Given the description of an element on the screen output the (x, y) to click on. 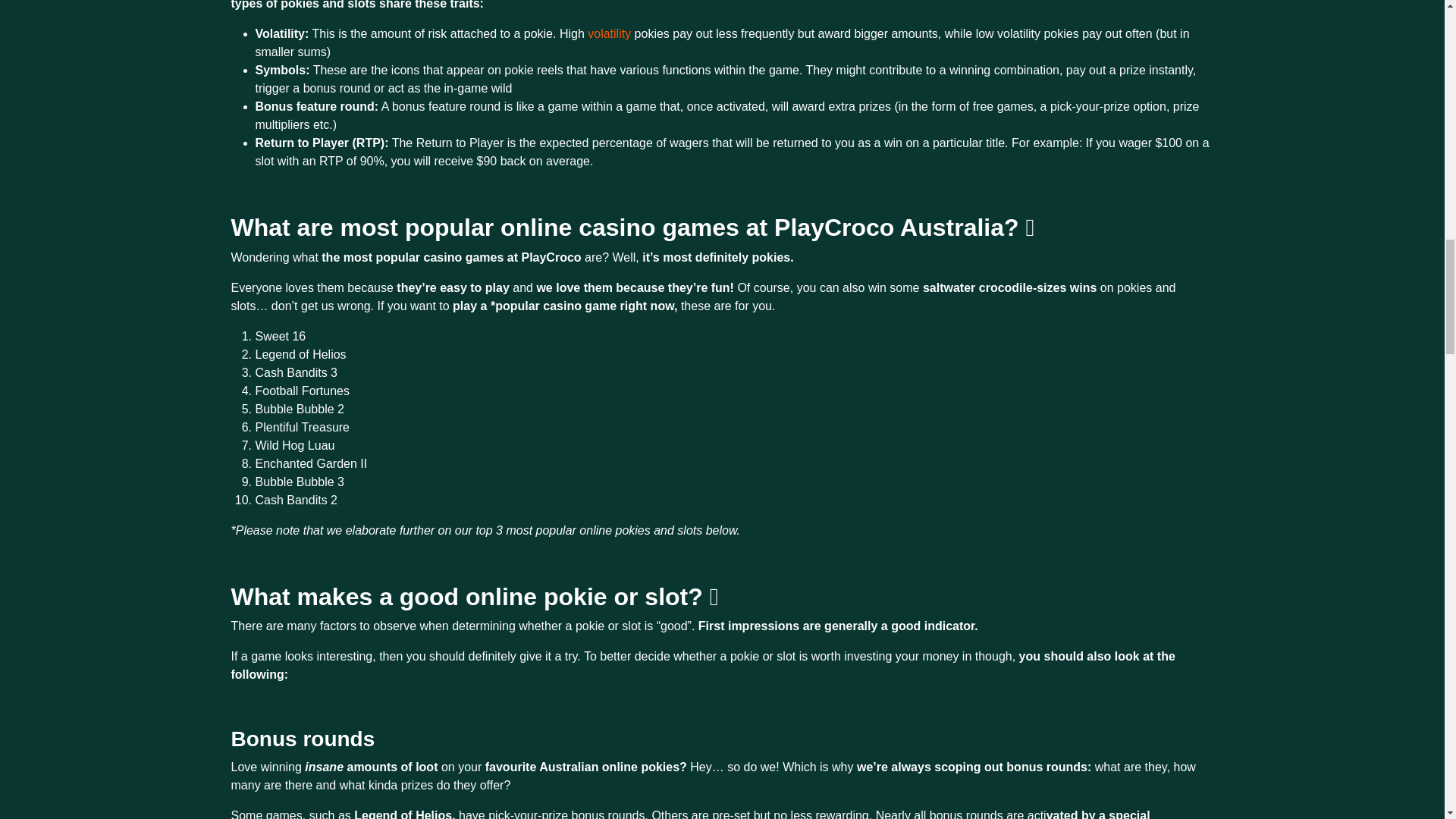
volatility (610, 33)
pokies volatility (610, 33)
